Given the description of an element on the screen output the (x, y) to click on. 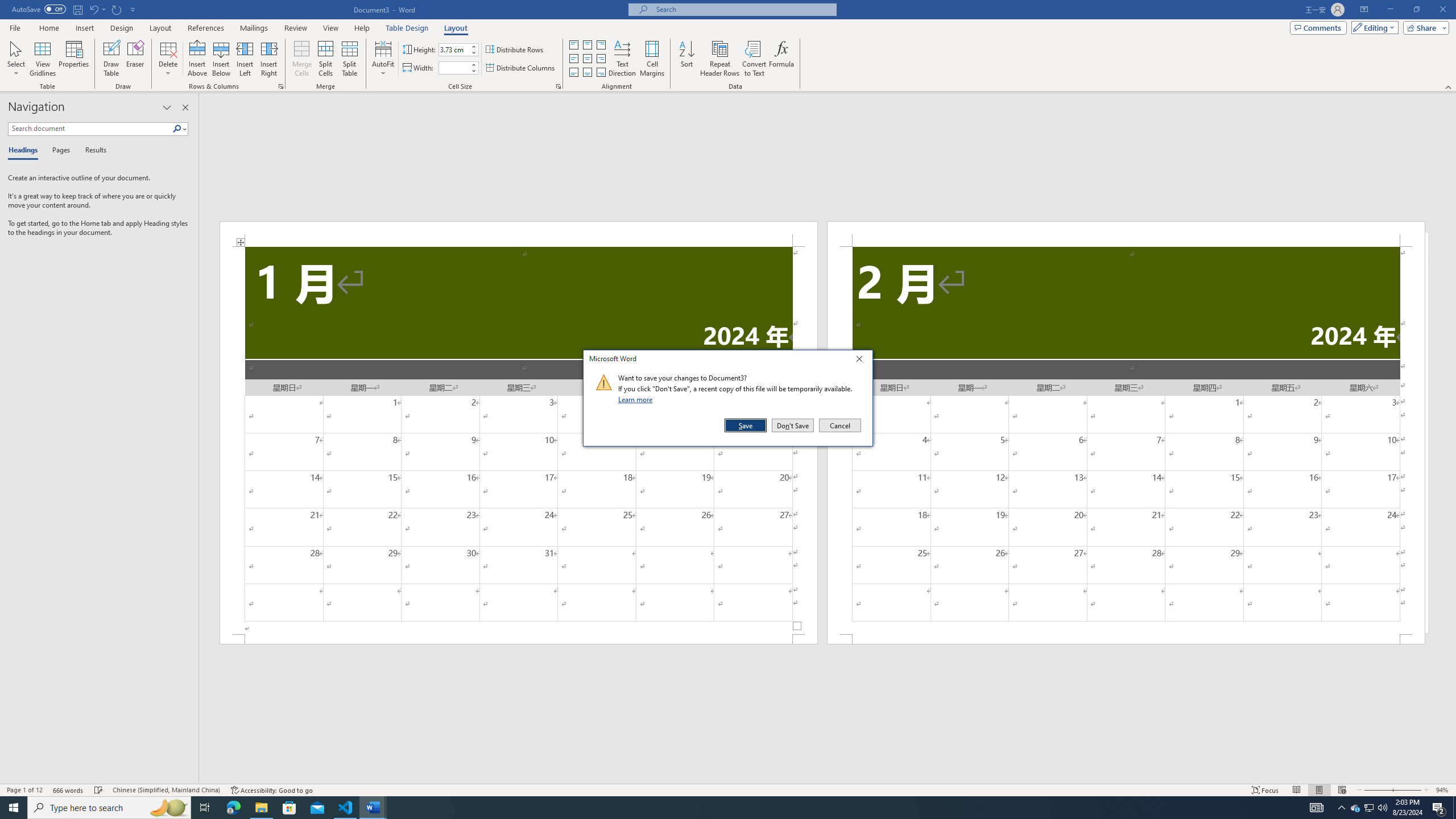
Microsoft search (742, 9)
Class: NetUIScrollBar (827, 778)
Save (746, 425)
Search (179, 128)
Insert Above (196, 58)
Align Top Justified (573, 44)
Sort... (686, 58)
Convert to Text... (754, 58)
Help (361, 28)
File Tab (15, 27)
Restore Down (1416, 9)
Task Pane Options (167, 107)
Undo Increase Indent (96, 9)
Home (48, 28)
